Given the description of an element on the screen output the (x, y) to click on. 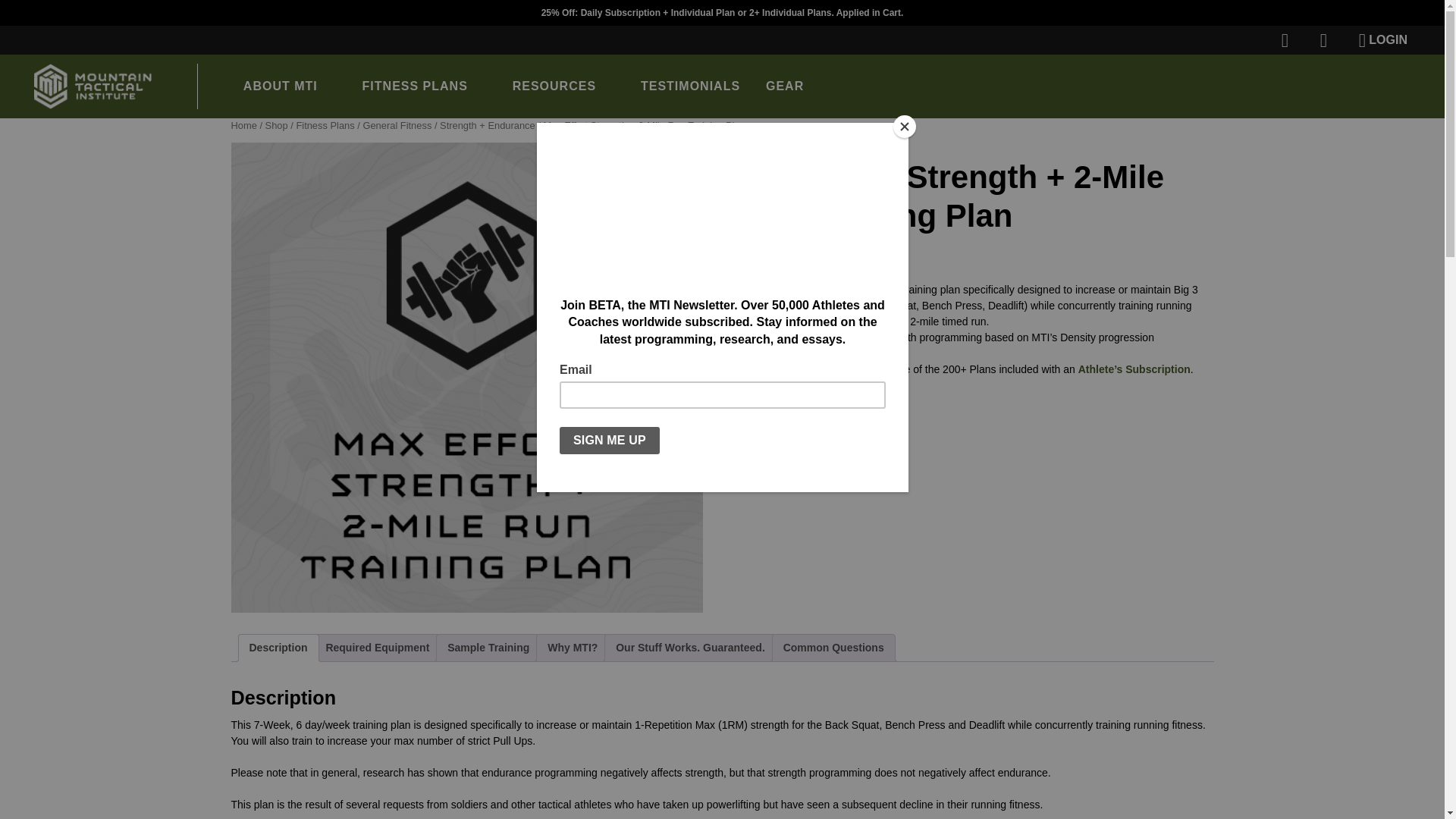
TESTIMONIALS (689, 85)
RESOURCES (563, 85)
GEAR (784, 85)
ABOUT MTI (289, 85)
LOGIN (1382, 39)
FITNESS PLANS (423, 85)
